Given the description of an element on the screen output the (x, y) to click on. 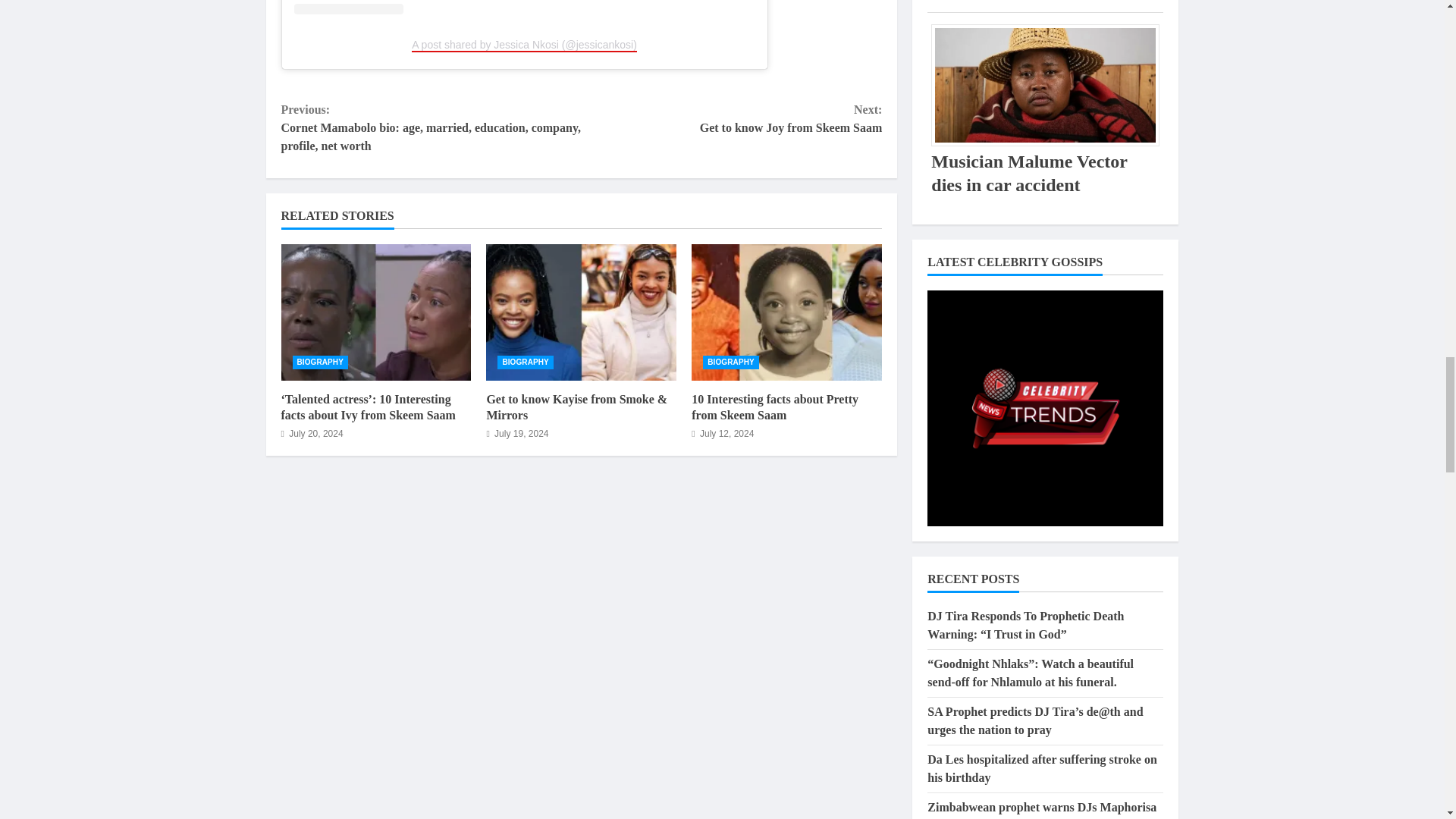
View this post on Instagram (524, 7)
